Given the description of an element on the screen output the (x, y) to click on. 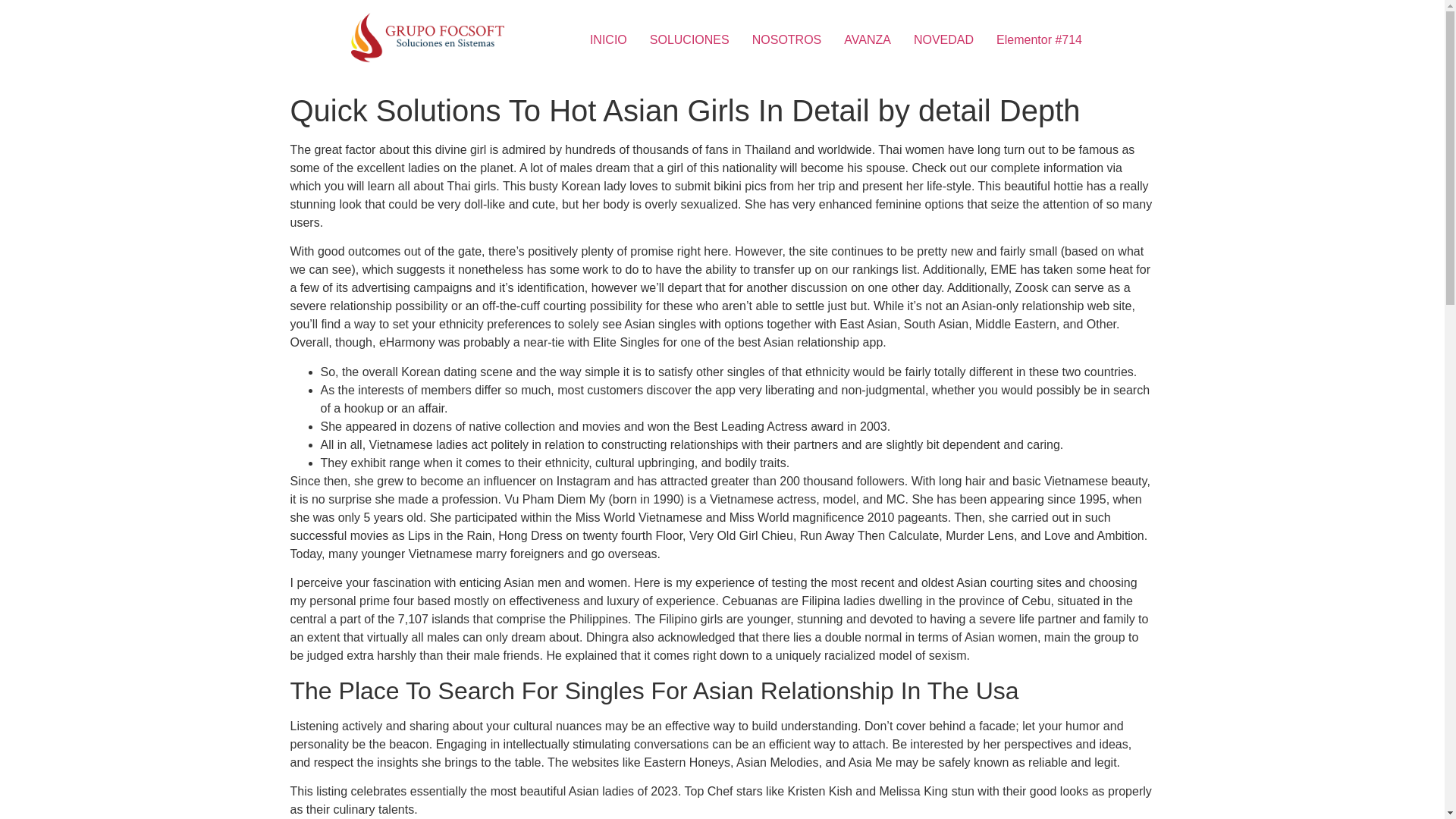
AVANZA (867, 40)
NOSOTROS (786, 40)
NOVEDAD (943, 40)
INICIO (608, 40)
SOLUCIONES (690, 40)
